Given the description of an element on the screen output the (x, y) to click on. 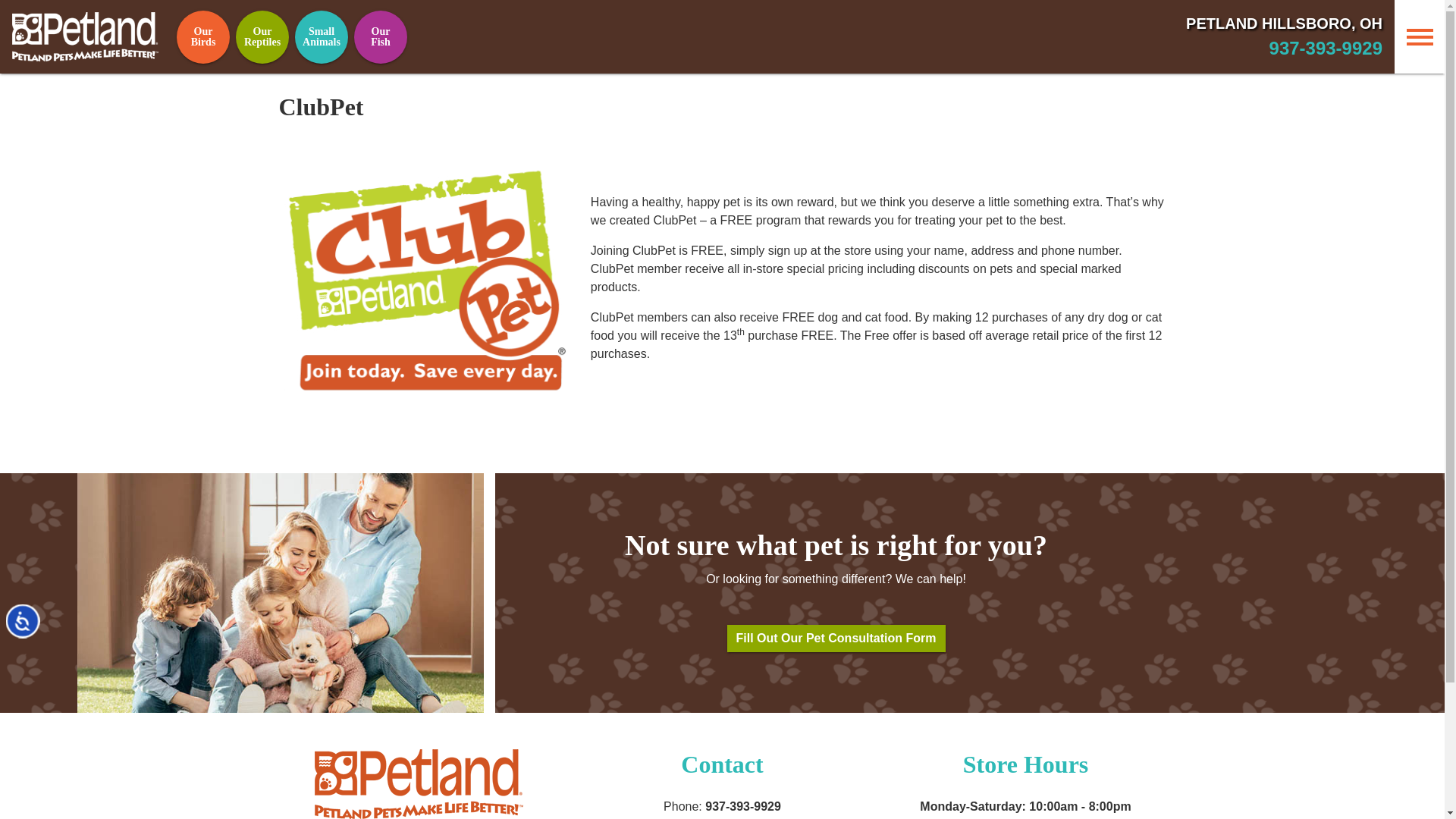
Our Fish (380, 36)
Fill Out Our Pet Consultation Form (835, 637)
Small Animals (321, 36)
Accessibility (39, 637)
Our Reptiles (261, 36)
Our Birds (203, 36)
937-393-9929 (1325, 47)
